Given the description of an element on the screen output the (x, y) to click on. 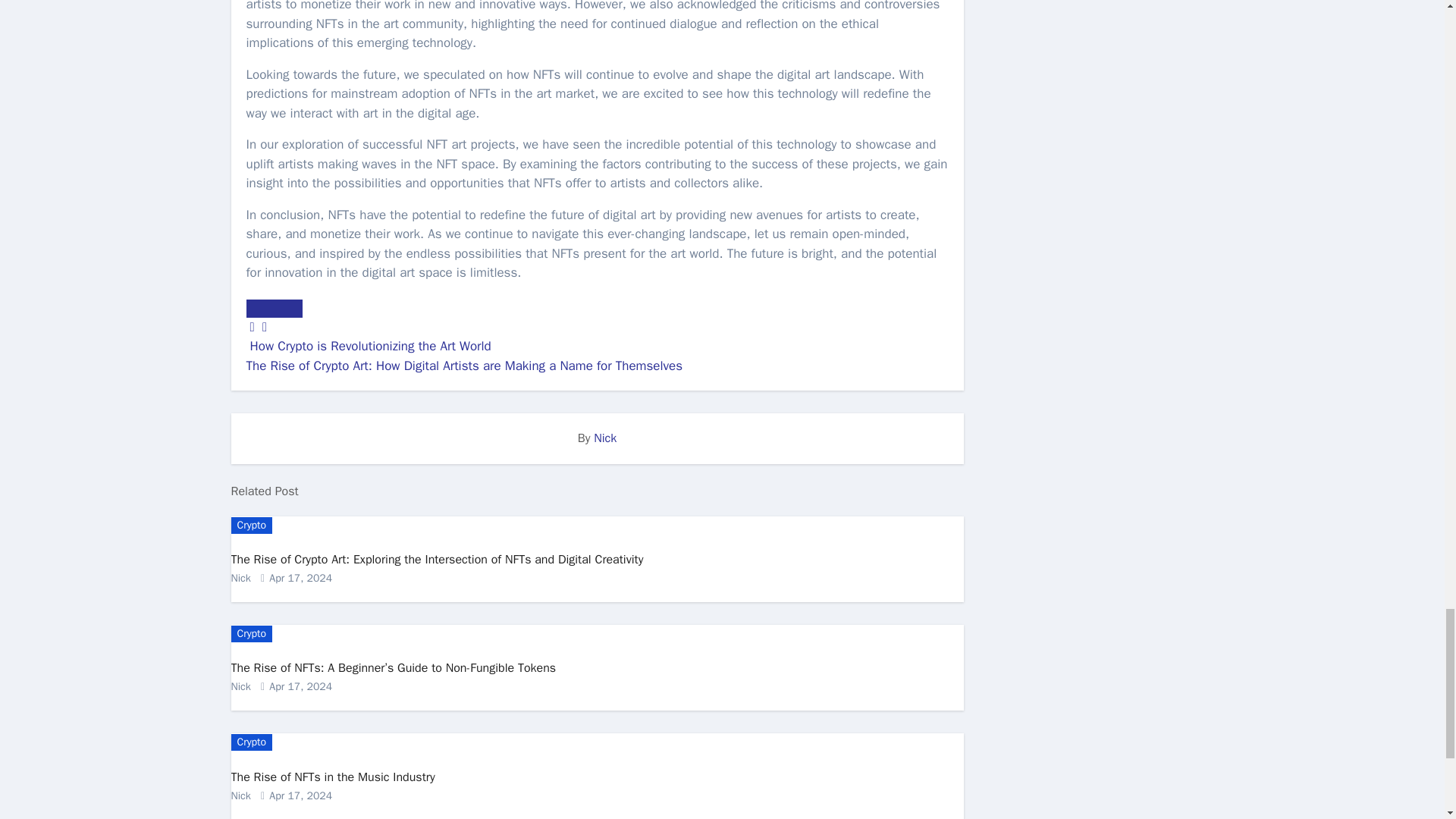
How Crypto is Revolutionizing the Art World (368, 345)
Permalink to: The Rise of NFTs in the Music Industry (331, 776)
Nick (604, 437)
